Given the description of an element on the screen output the (x, y) to click on. 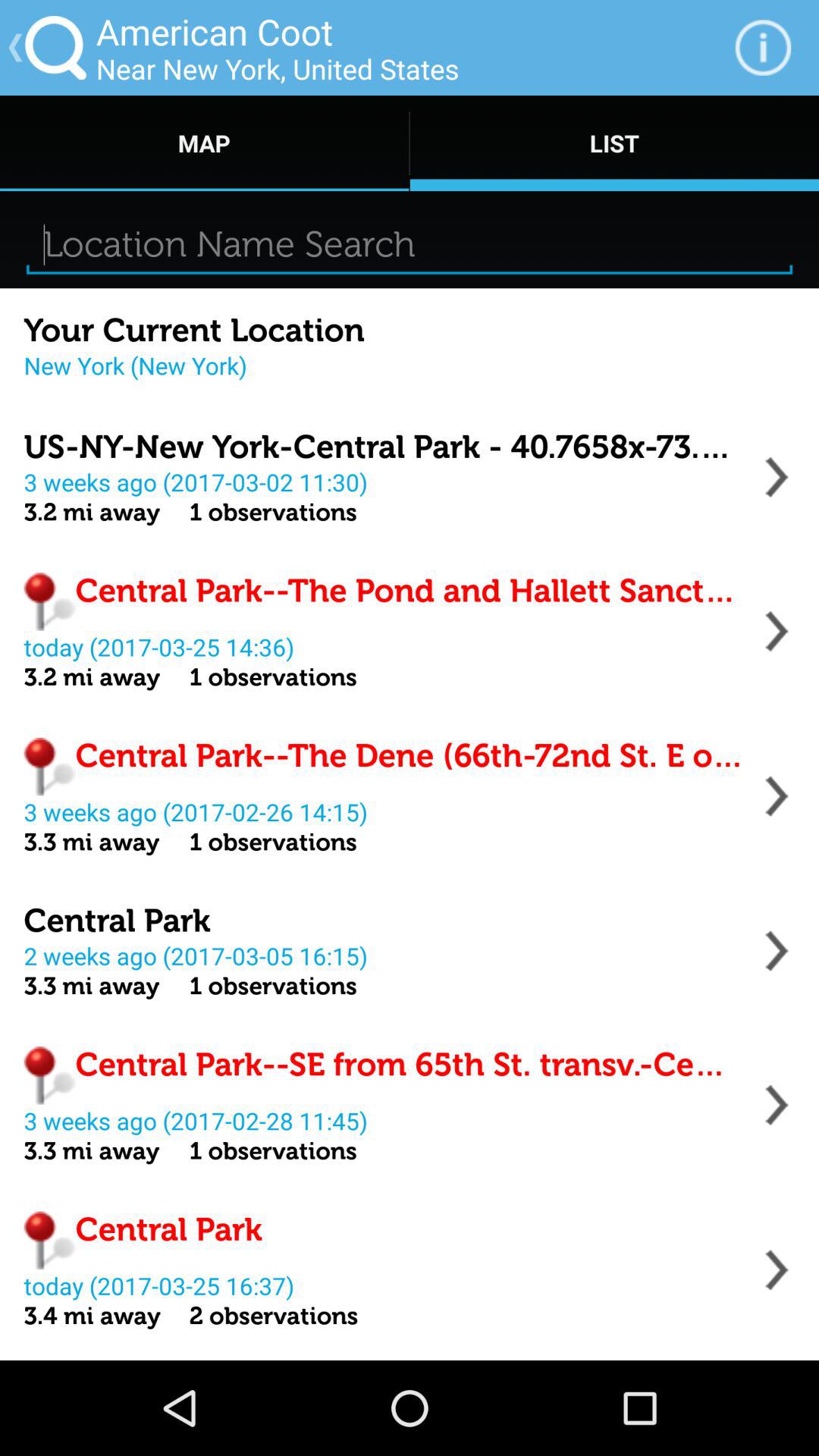
see informations (776, 1269)
